Given the description of an element on the screen output the (x, y) to click on. 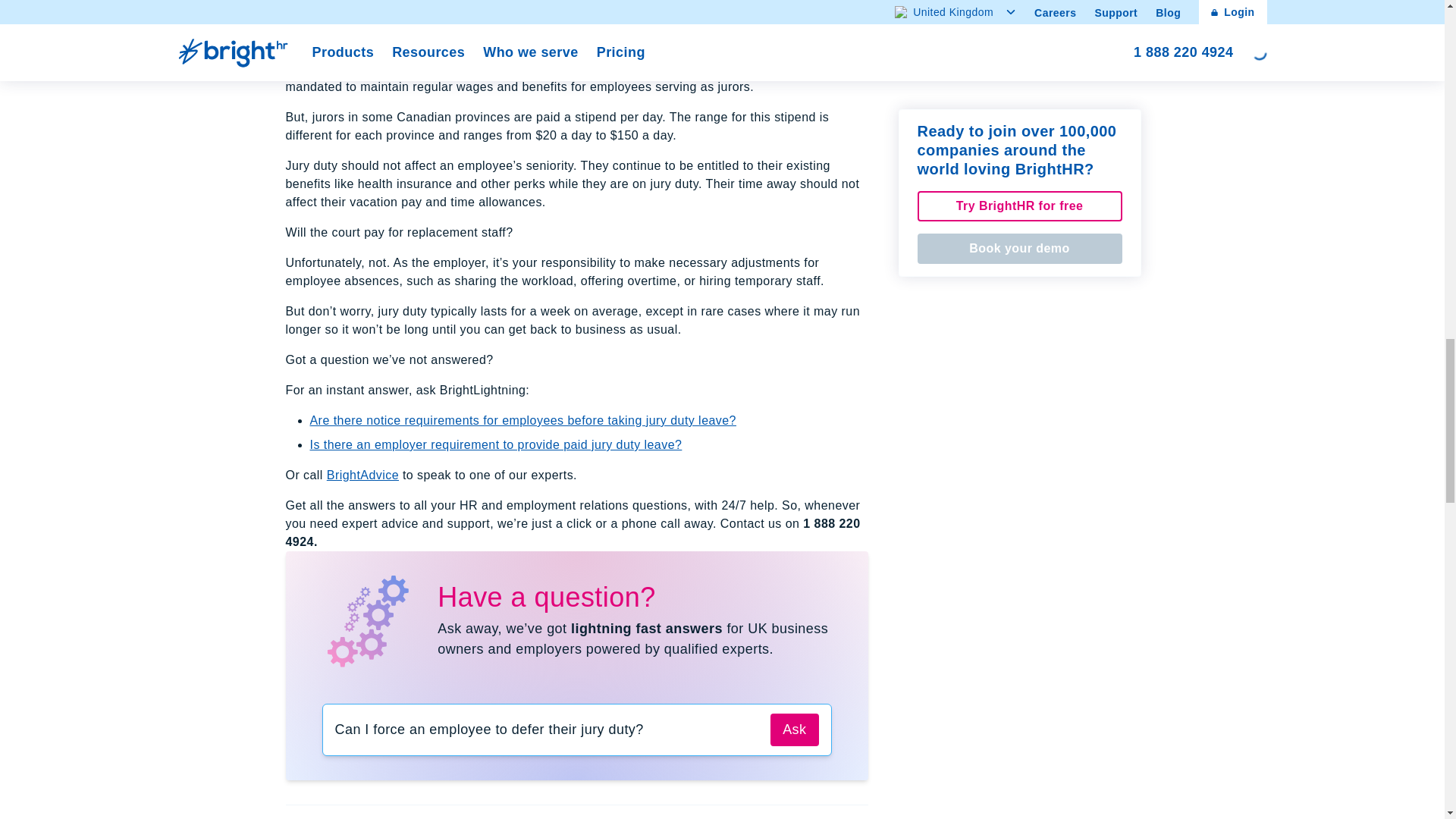
BrightAdvice (362, 474)
Can I force an employee to defer their jury duty? (547, 729)
Ask (794, 729)
